Given the description of an element on the screen output the (x, y) to click on. 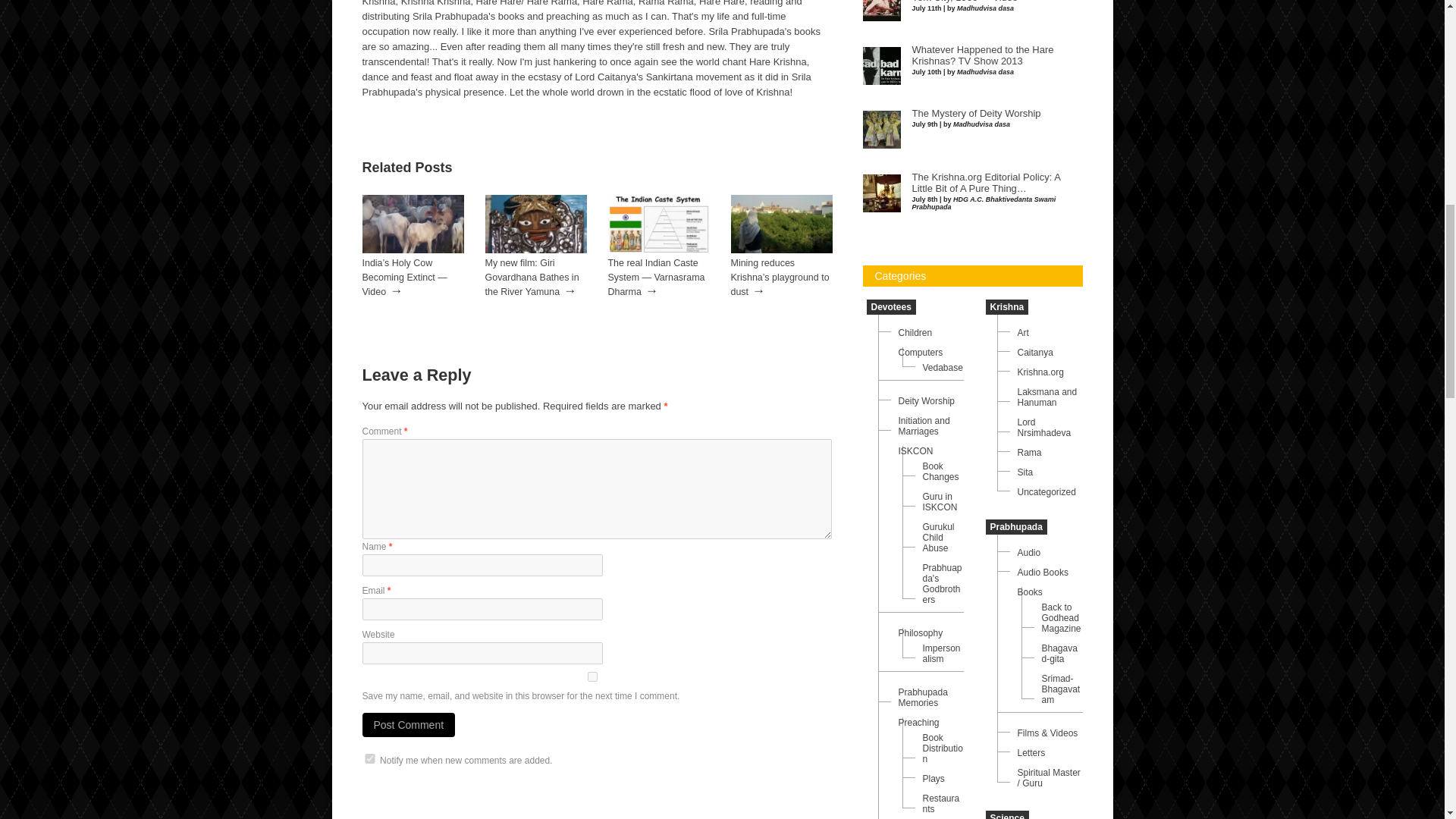
Whatever Happened to the Hare Krishnas?  TV Show 2013 (981, 55)
My new film: Giri Govardhana Bathes in the River Yamuna (535, 249)
Post Comment (408, 724)
1 (369, 758)
The Mystery of Deity Worship (976, 113)
yes (593, 676)
My new film: Giri Govardhana Bathes in the River Yamuna (531, 277)
